Given the description of an element on the screen output the (x, y) to click on. 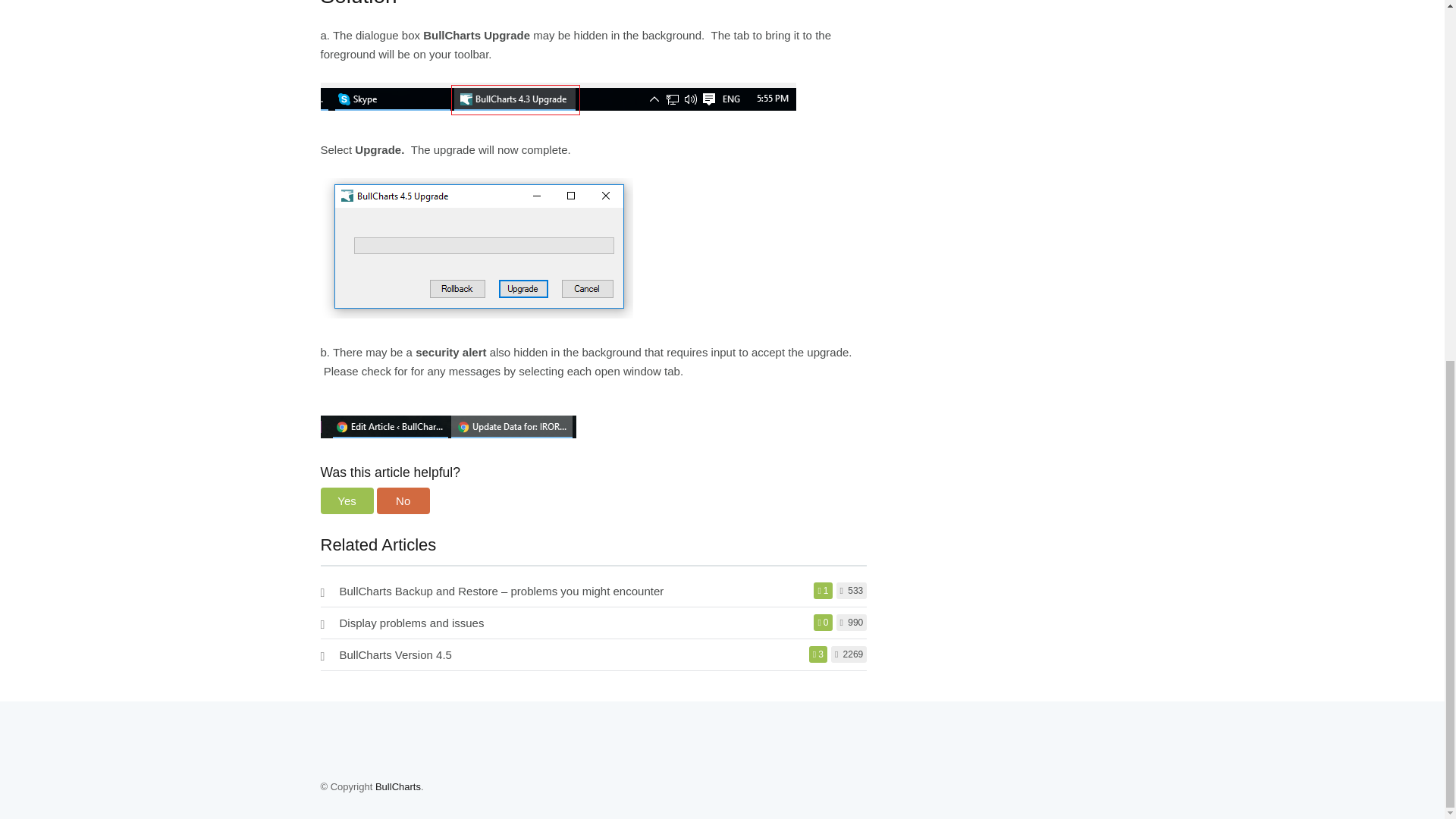
Yes (346, 500)
No (403, 500)
BullCharts (397, 786)
Display problems and issues (411, 622)
BullCharts Version 4.5 (395, 654)
BullCharts Version 4.5 (395, 654)
Display problems and issues (411, 622)
